Given the description of an element on the screen output the (x, y) to click on. 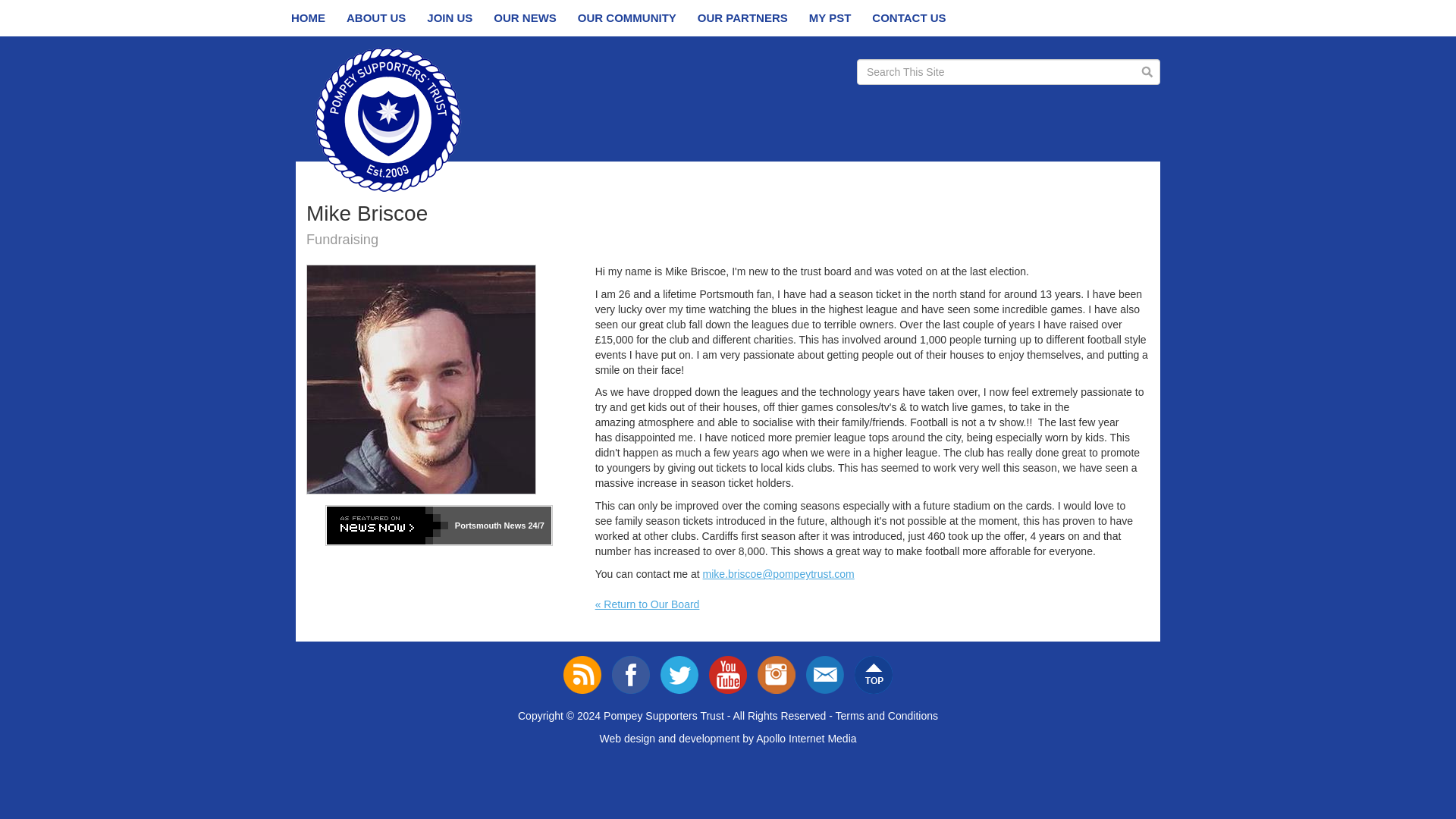
Mike Briscoe (420, 379)
MY PST (829, 18)
OUR PARTNERS (742, 18)
ABOUT US (376, 18)
Portsmouth News (489, 524)
Click here for more Portsmouth news from NewsNow (387, 525)
OUR NEWS (525, 18)
CONTACT US (908, 18)
Click here for more Portsmouth news from NewsNow (534, 524)
OUR COMMUNITY (627, 18)
JOIN US (449, 18)
Click here for more Portsmouth news from NewsNow (489, 524)
Click here for more Portsmouth FC news from NewsNow (438, 525)
HOME (308, 18)
